Given the description of an element on the screen output the (x, y) to click on. 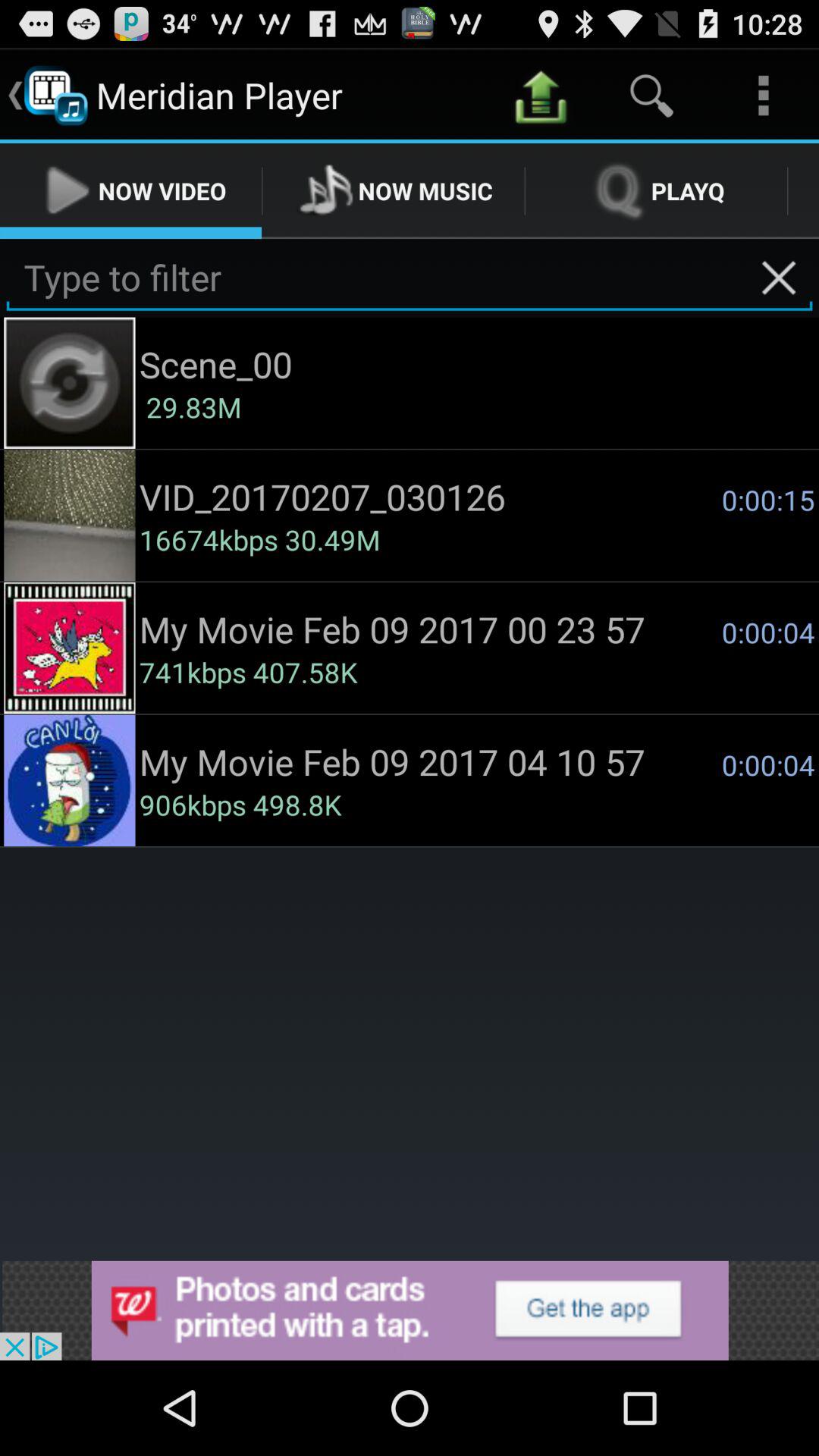
advertisement (409, 1310)
